Given the description of an element on the screen output the (x, y) to click on. 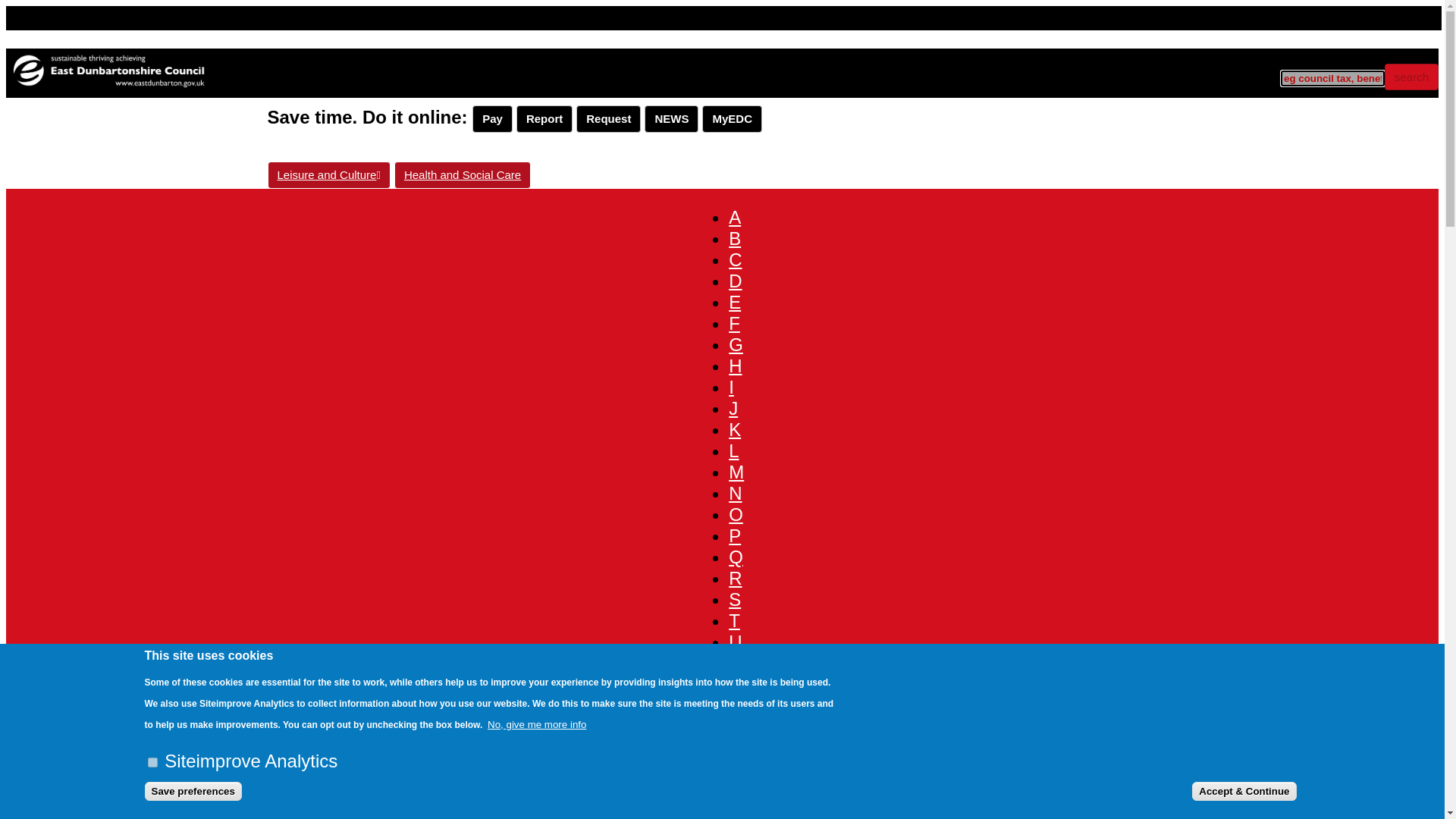
Council Services (123, 817)
Health and Social Care (462, 174)
Enter the terms you wish to search for. (1332, 78)
Save preferences (192, 791)
MyEDC (731, 118)
No, give me more info (536, 724)
ED Leisure and Culture (328, 174)
NEWS (671, 118)
Council news (671, 118)
1 (152, 762)
Report (544, 118)
Report a problem (544, 118)
Request a service (608, 118)
Request (608, 118)
Pay online (491, 118)
